Given the description of an element on the screen output the (x, y) to click on. 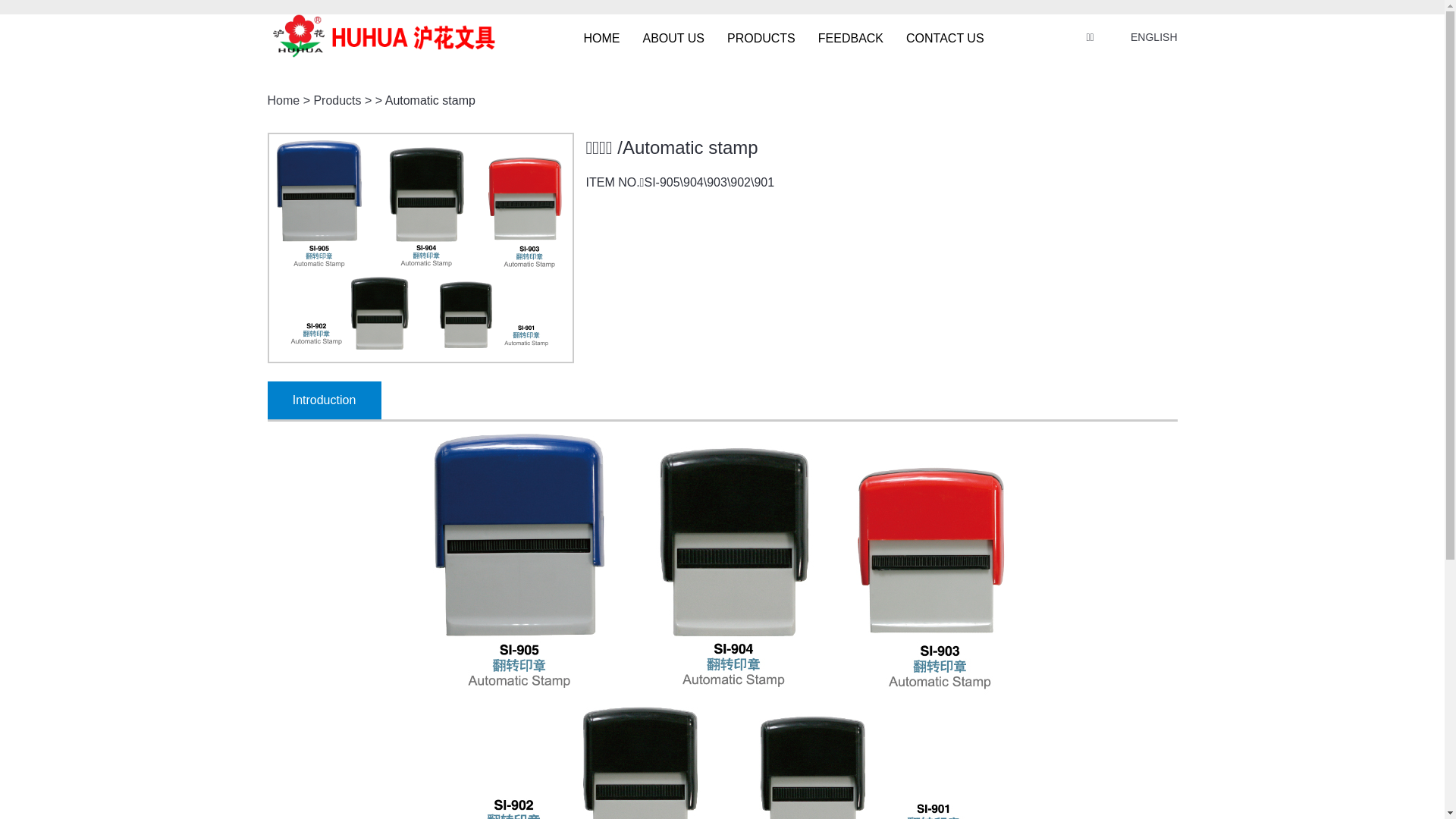
PRODUCTS Element type: text (761, 37)
CONTACT US Element type: text (945, 37)
Products Element type: text (336, 100)
HOME Element type: text (601, 37)
FEEDBACK Element type: text (850, 37)
Home Element type: text (282, 100)
ABOUT US Element type: text (674, 37)
